Given the description of an element on the screen output the (x, y) to click on. 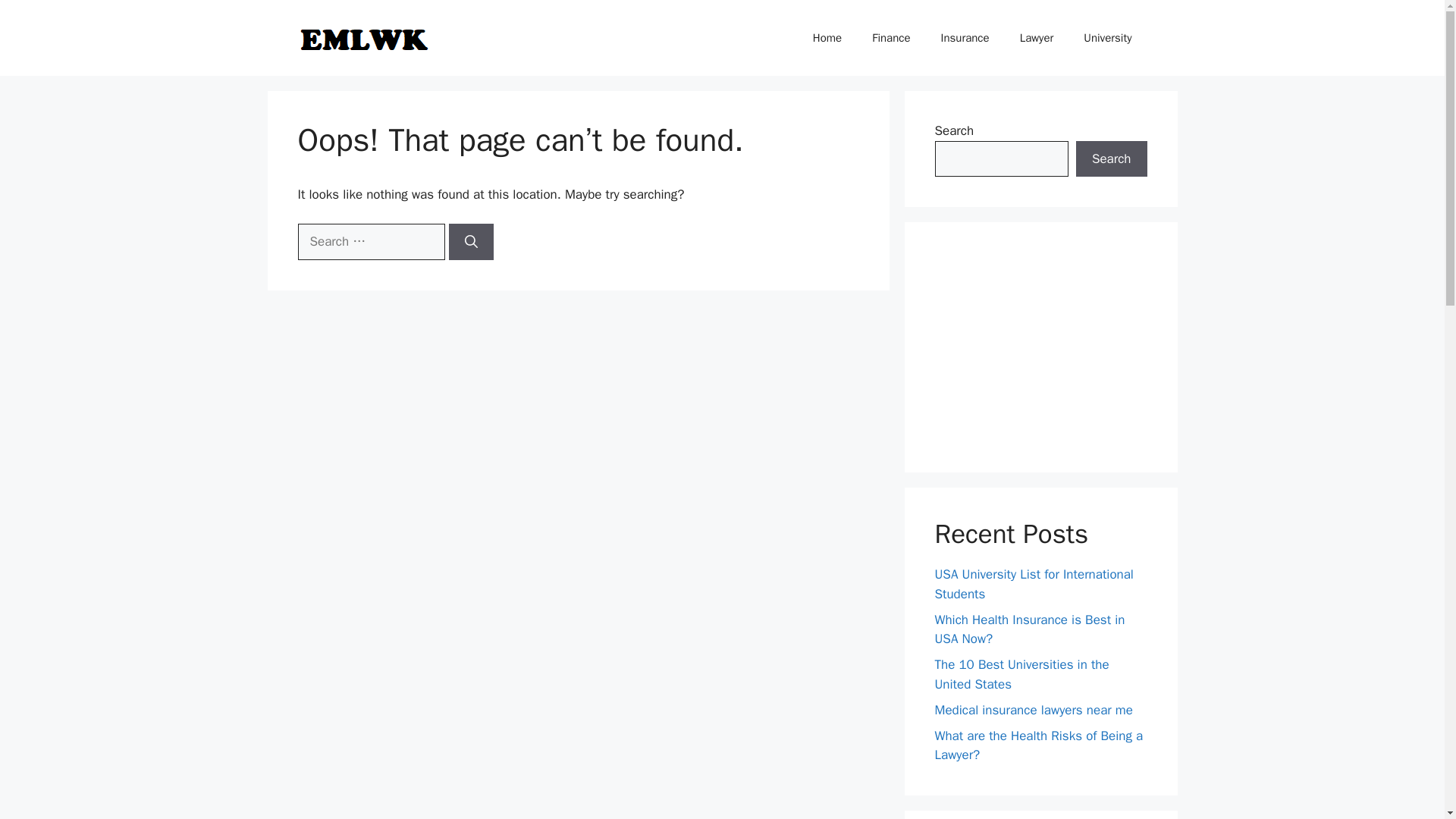
Medical insurance lawyers near me (1033, 709)
What are the Health Risks of Being a Lawyer? (1038, 745)
Search (1111, 158)
The 10 Best Universities in the United States (1021, 674)
USA University List for International Students (1033, 583)
University (1107, 37)
Finance (890, 37)
Which Health Insurance is Best in USA Now? (1029, 628)
Insurance (965, 37)
Home (827, 37)
